Given the description of an element on the screen output the (x, y) to click on. 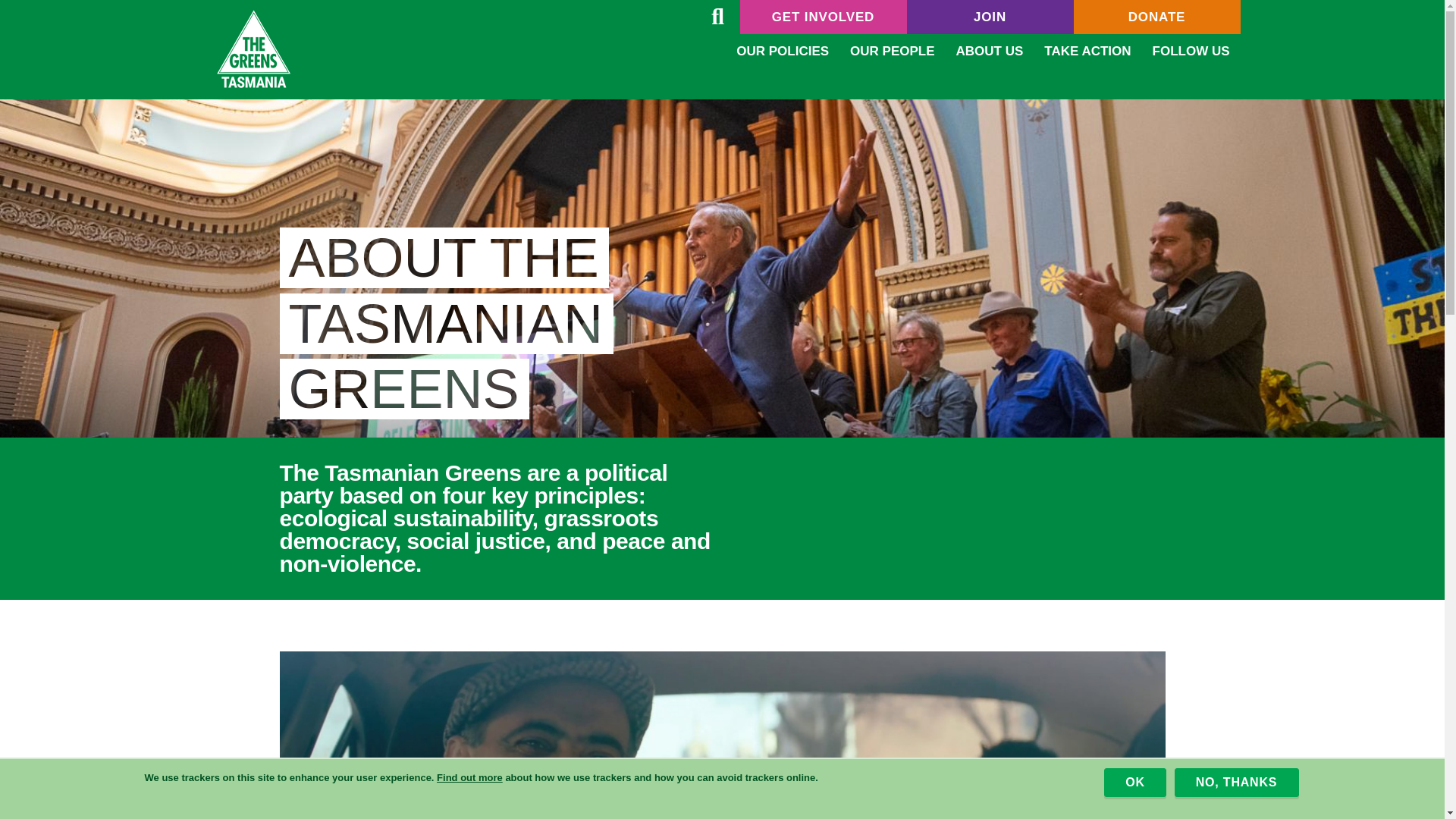
JOIN (990, 17)
Search (716, 17)
FOLLOW US (1190, 50)
OUR PEOPLE (892, 50)
TAKE ACTION (1087, 50)
DONATE (1157, 17)
OUR POLICIES (782, 50)
GET INVOLVED (823, 17)
ABOUT US (988, 50)
